Given the description of an element on the screen output the (x, y) to click on. 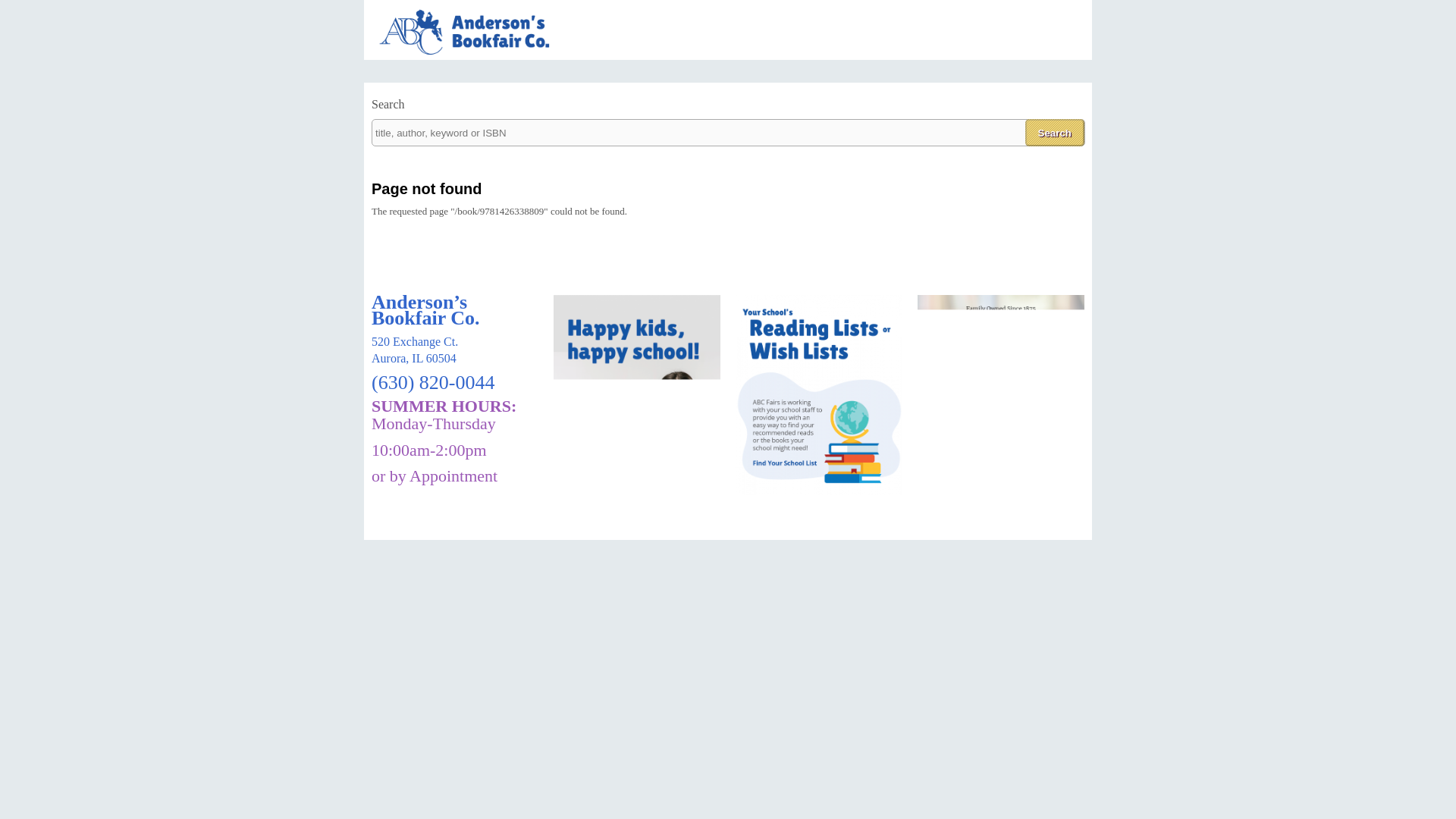
Home (473, 52)
Enter the terms you wish to search for. (727, 132)
Search (1054, 132)
Search (1054, 132)
